Given the description of an element on the screen output the (x, y) to click on. 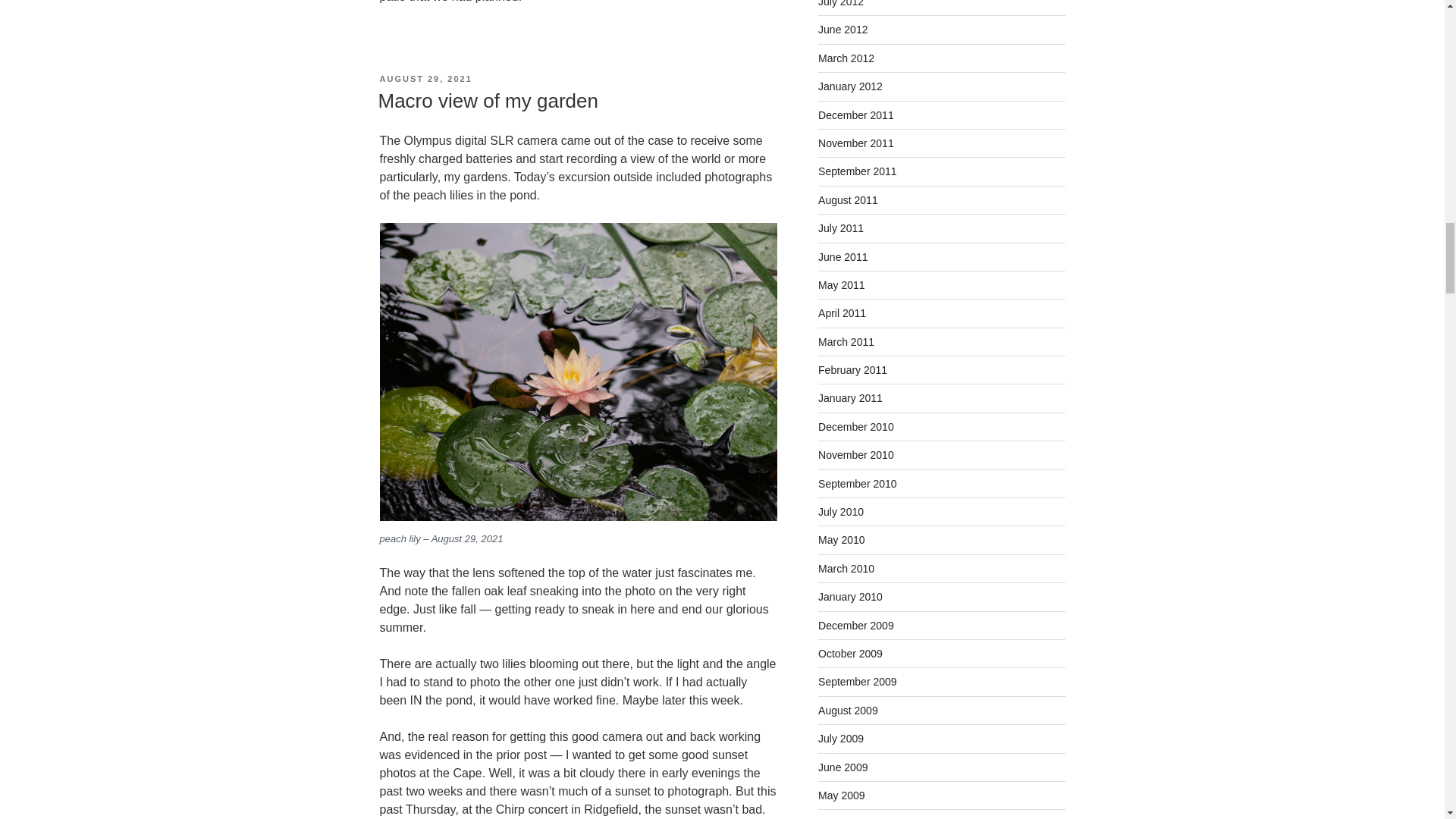
Macro view of my garden (486, 100)
AUGUST 29, 2021 (424, 78)
